Given the description of an element on the screen output the (x, y) to click on. 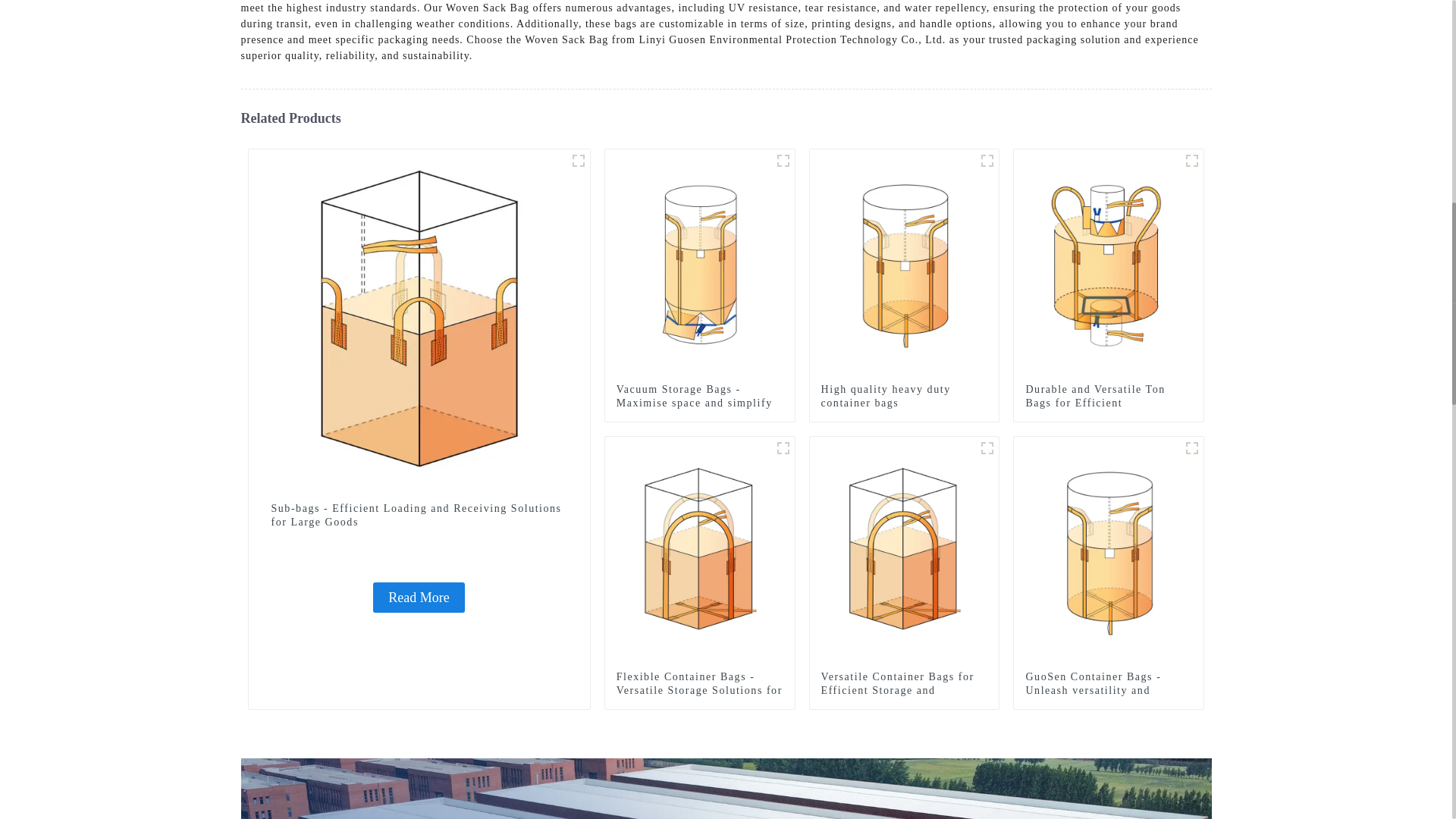
High quality heavy duty container bags (903, 262)
Versatile Container Bags for Efficient Storage and Transport (904, 690)
Vacuum Storage Bags - Maximise space and simplify storage (699, 403)
Versatile Container Bags for Efficient Storage and Transport (903, 550)
High quality heavy duty container bags (904, 396)
